Given the description of an element on the screen output the (x, y) to click on. 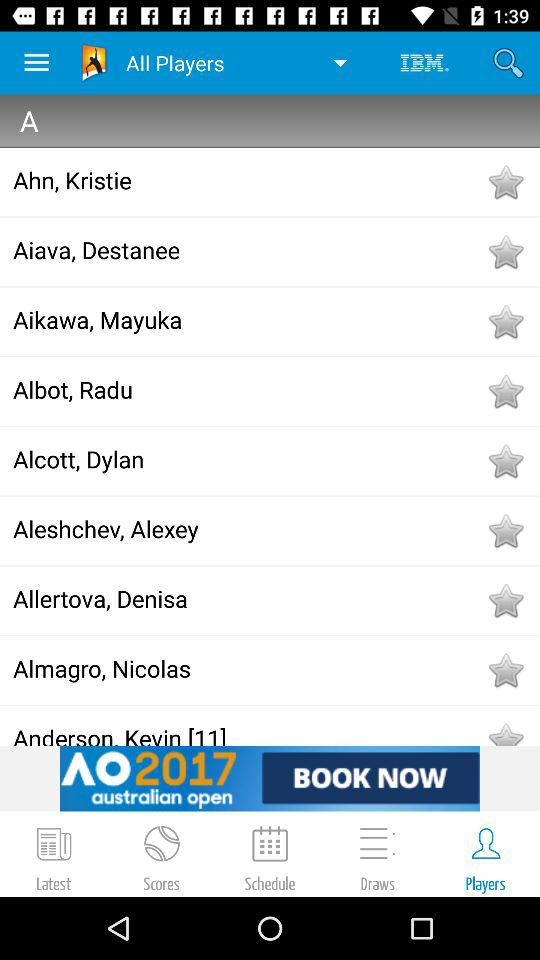
add to favorites (505, 182)
